Given the description of an element on the screen output the (x, y) to click on. 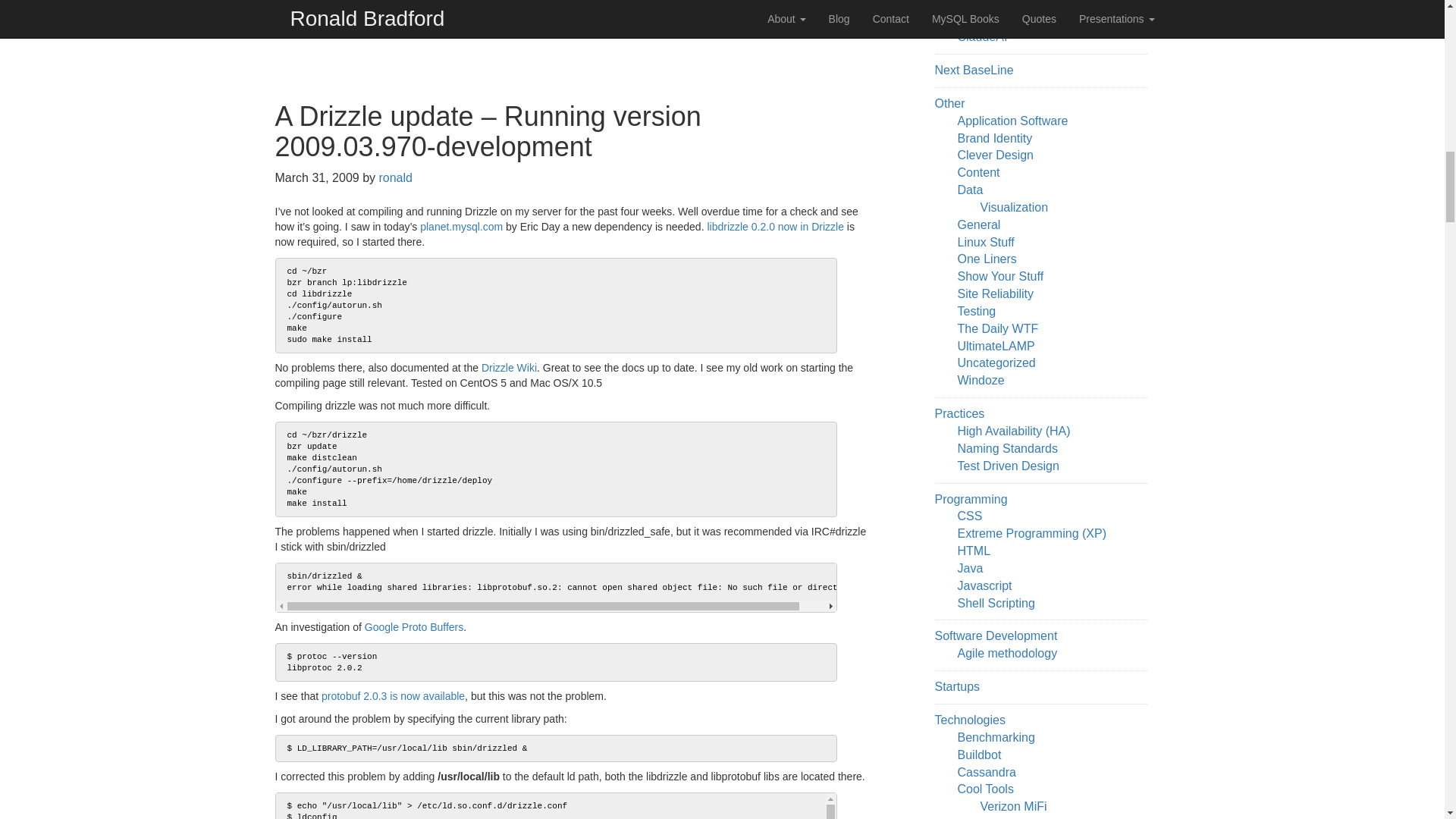
Everything Databases (985, 818)
Ideas and concepts that I consider Clever Design (994, 154)
Curious Perversions in Information Technology (997, 328)
Something Microsoft Windows related (980, 379)
